Given the description of an element on the screen output the (x, y) to click on. 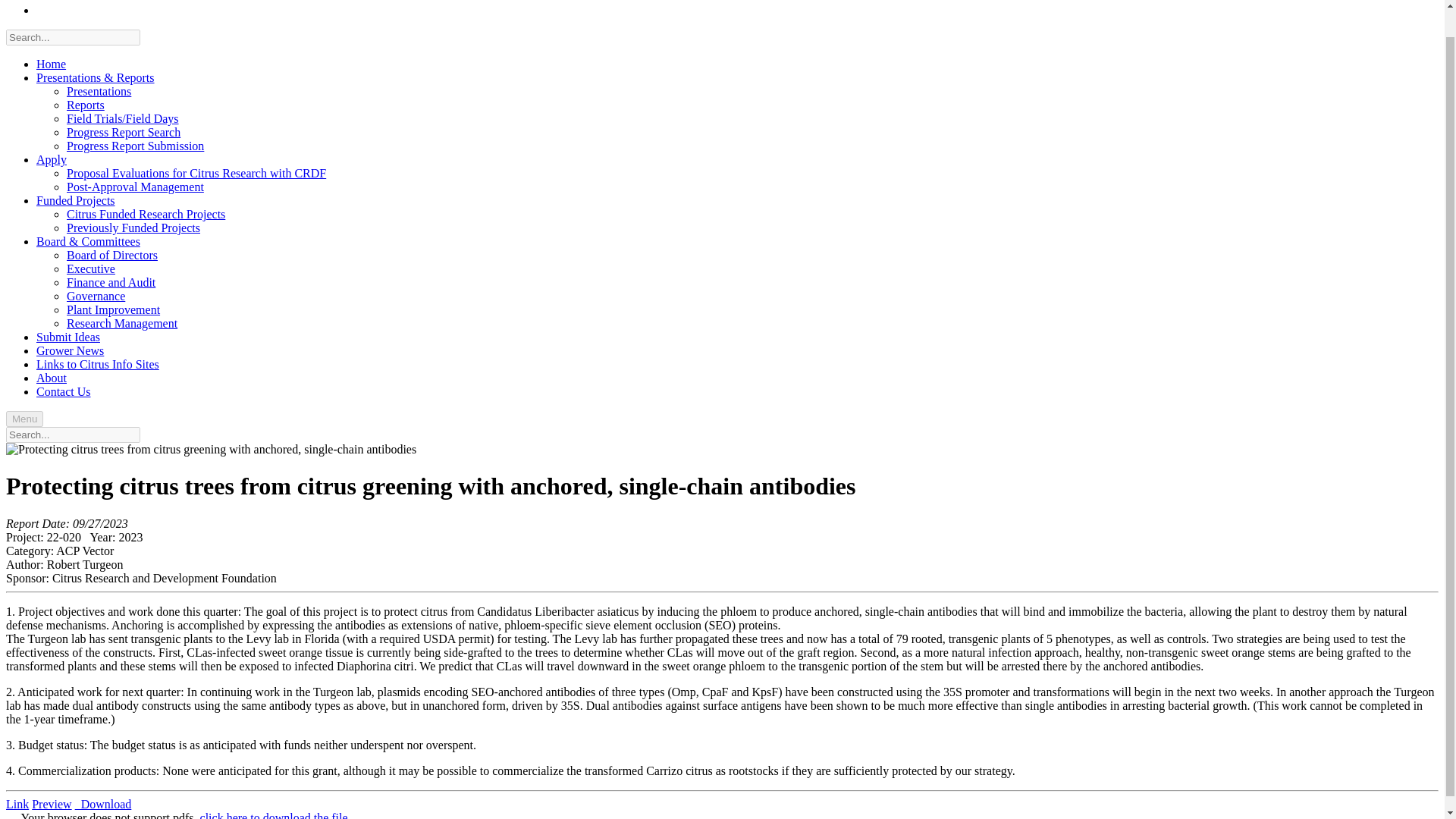
Grower News (69, 350)
Presentations (98, 91)
Contact Us (63, 391)
  Download (103, 803)
Links to Citrus Info Sites (97, 364)
Reports (85, 104)
Plant Improvement (113, 309)
Progress Report Search (123, 132)
Home (50, 63)
Link (17, 803)
Governance (95, 295)
Proposal Evaluations for Citrus Research with CRDF (196, 173)
Funded Projects (75, 200)
Preview (51, 803)
Research Management (121, 323)
